Given the description of an element on the screen output the (x, y) to click on. 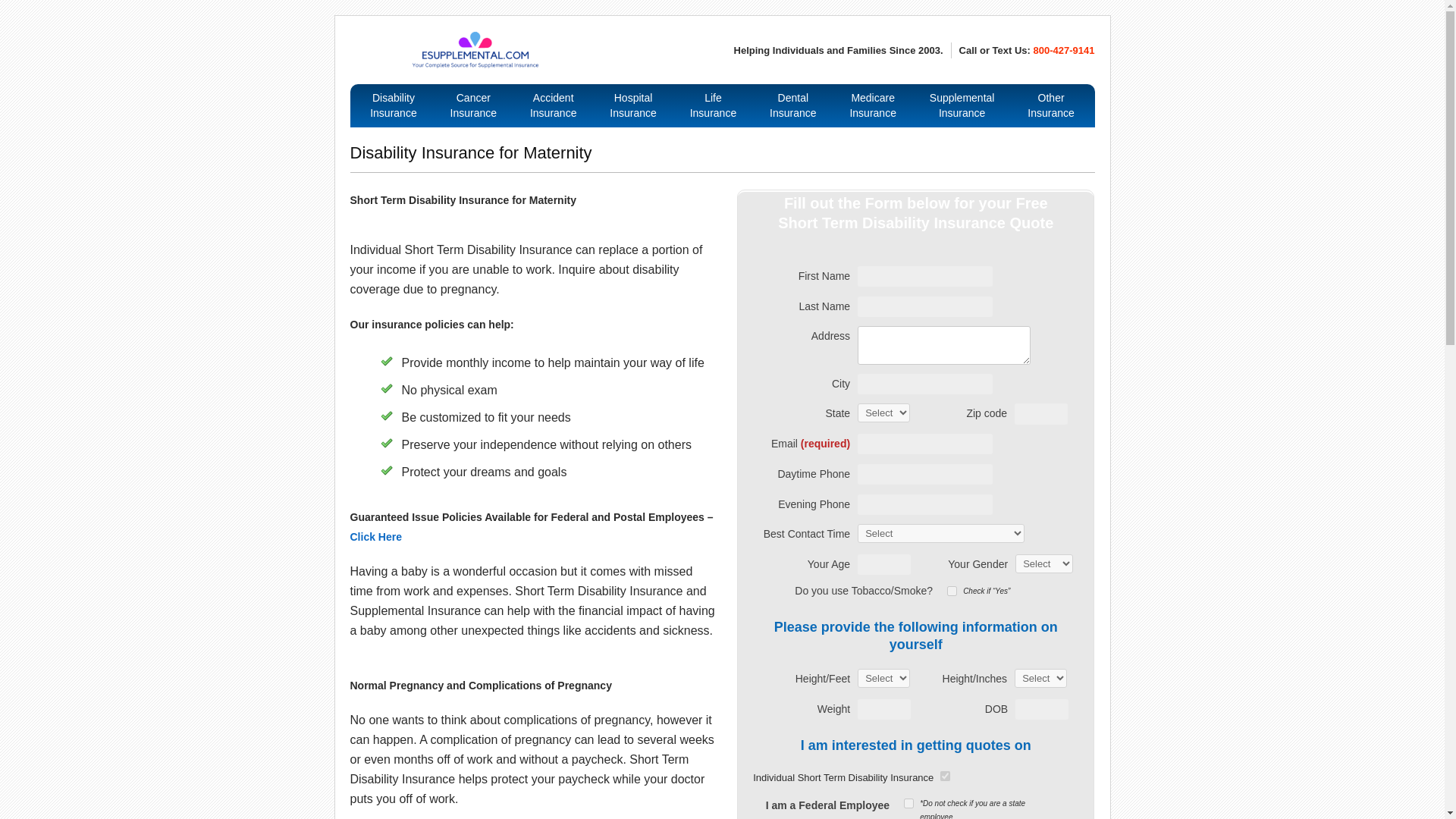
eSupplemental.com (632, 105)
800-427-9141 (474, 49)
1 (1062, 50)
Click Here (553, 105)
